Given the description of an element on the screen output the (x, y) to click on. 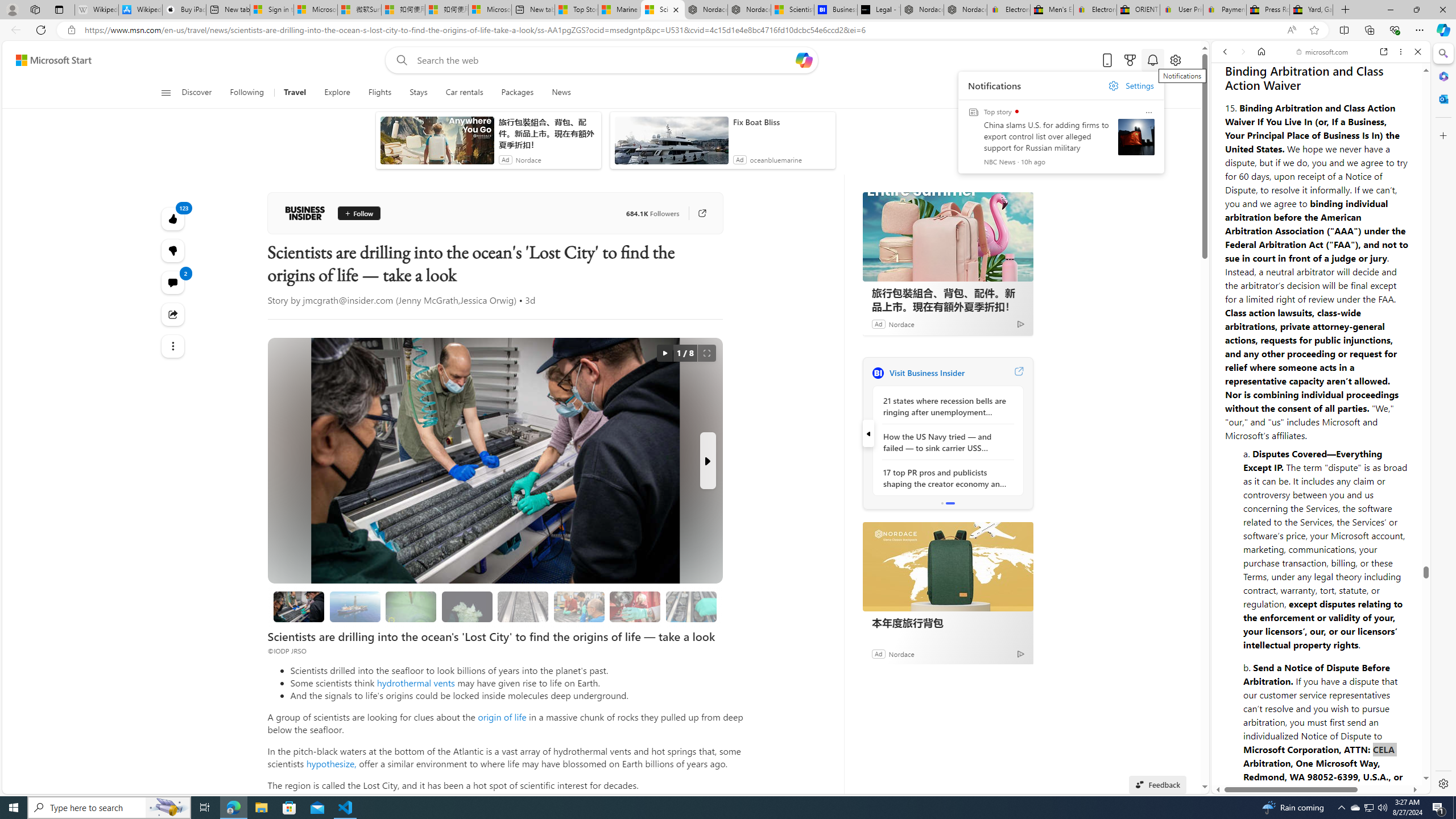
Restore (1416, 9)
Address and search bar (680, 29)
Researchers are still studying the samples (691, 606)
Collections (1369, 29)
Home (1261, 51)
123 Like (172, 218)
Ad Choice (1020, 653)
Settings and more (Alt+F) (1419, 29)
microsoft.com (1323, 51)
Sign in to your Microsoft account (271, 9)
Minimize (1390, 9)
